Given the description of an element on the screen output the (x, y) to click on. 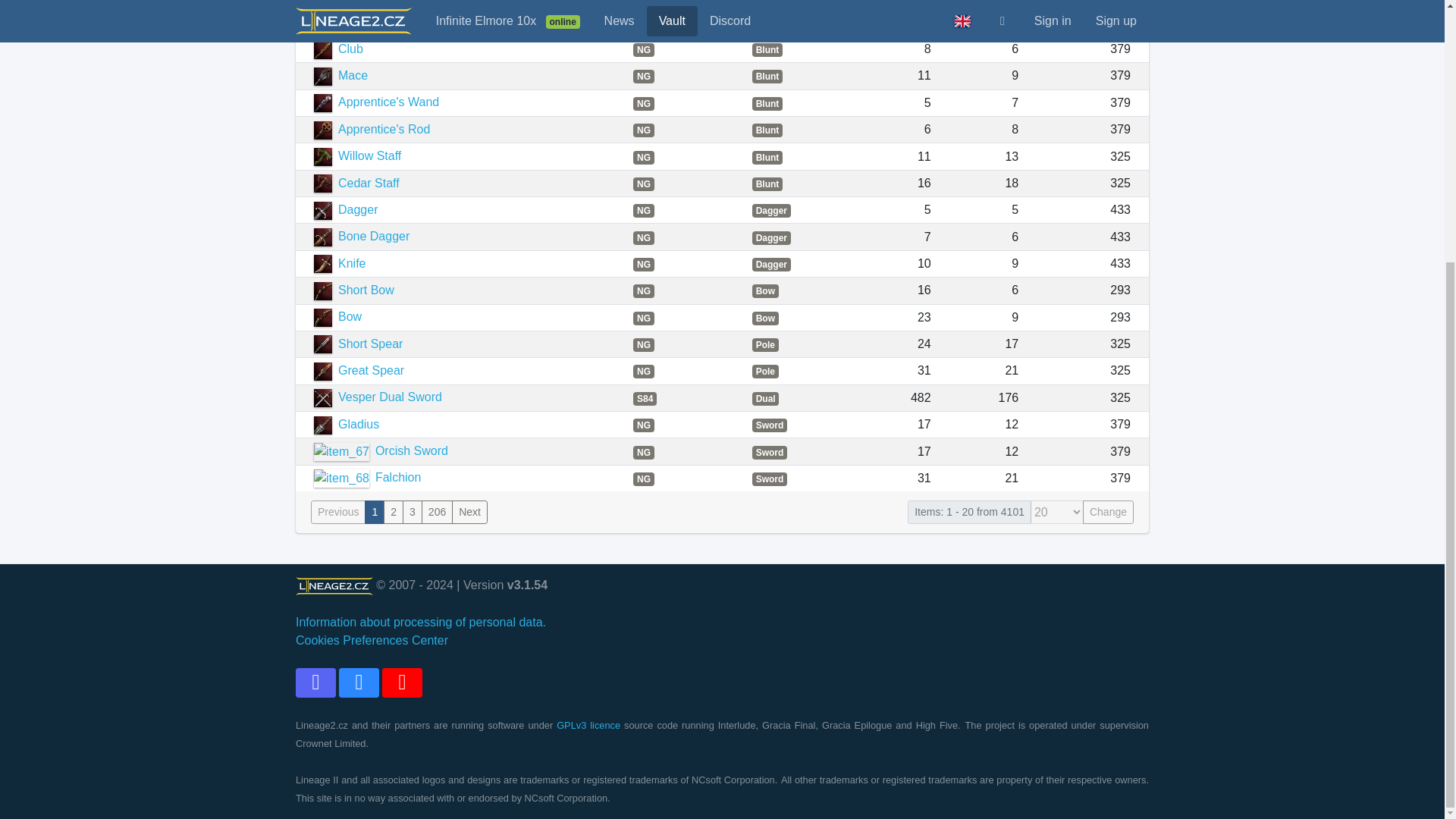
Broadsword (358, 21)
Club (338, 48)
Long Sword (358, 0)
Apprentice's Rod (371, 128)
Apprentice's Wand (376, 101)
Mace (341, 74)
